Given the description of an element on the screen output the (x, y) to click on. 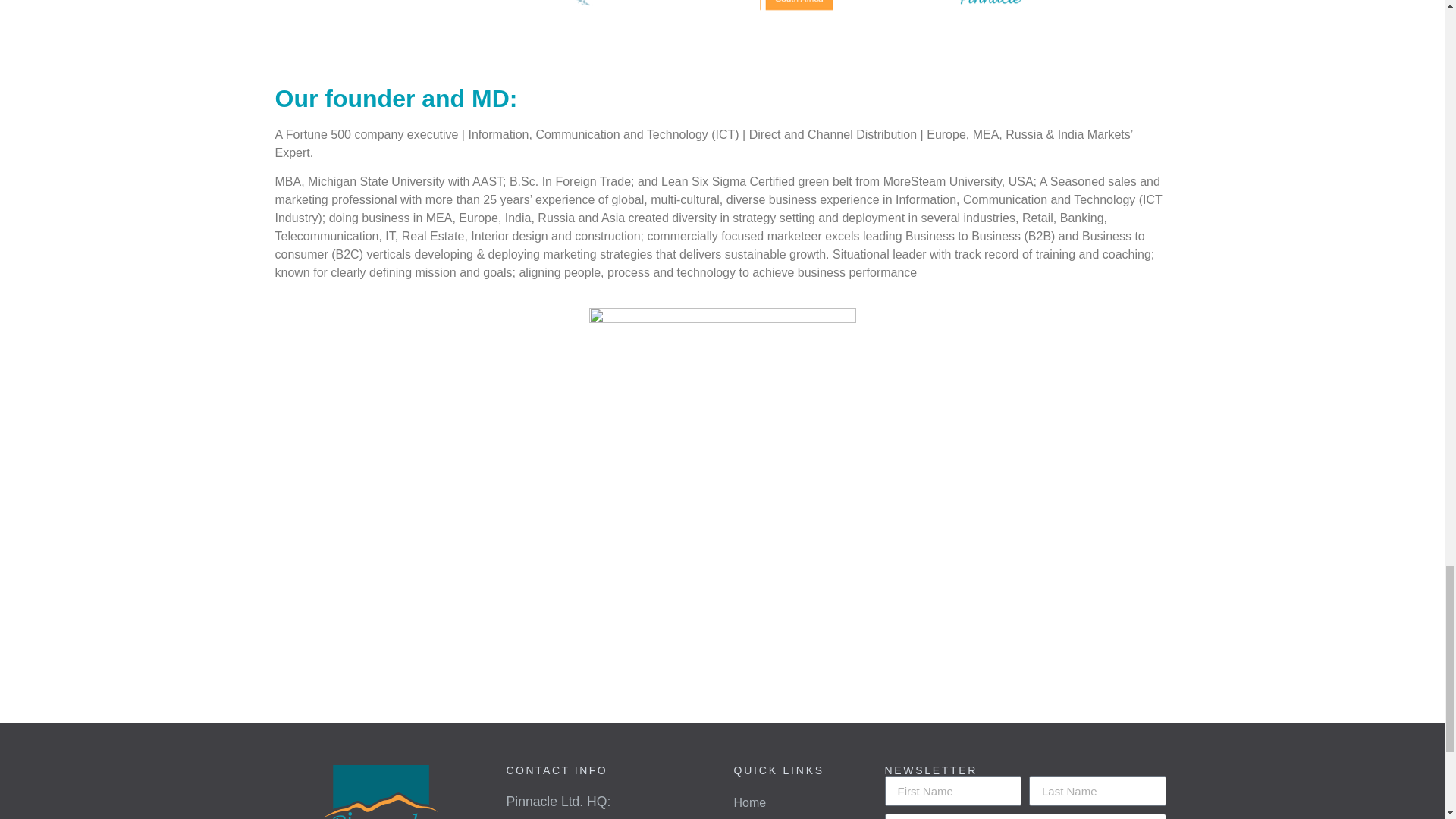
Home (750, 802)
